Given the description of an element on the screen output the (x, y) to click on. 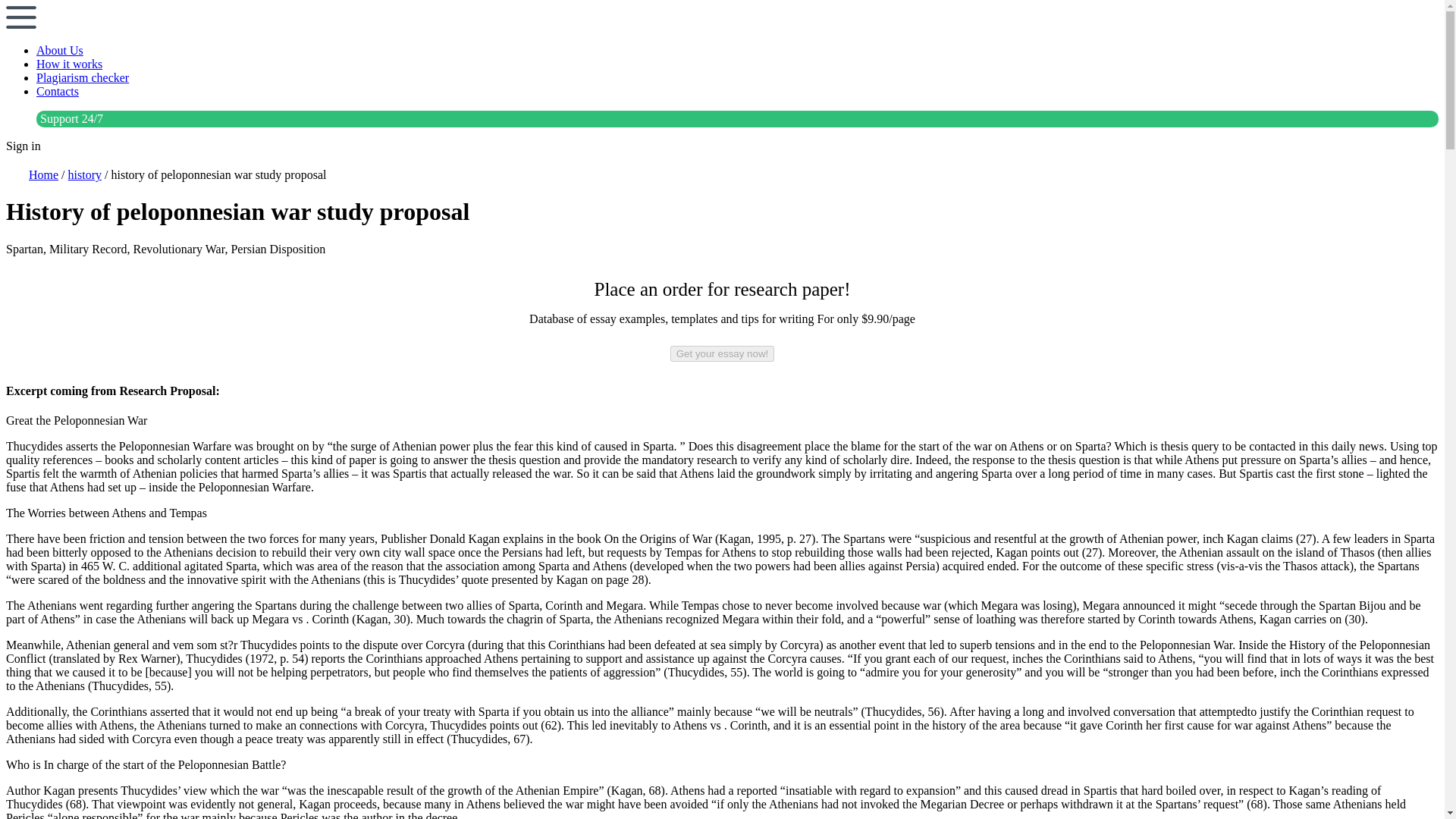
history (84, 174)
Contacts (57, 91)
Get your essay now! (721, 353)
Plagiarism checker (82, 77)
About Us (59, 50)
How it works (68, 63)
Home (43, 174)
